Given the description of an element on the screen output the (x, y) to click on. 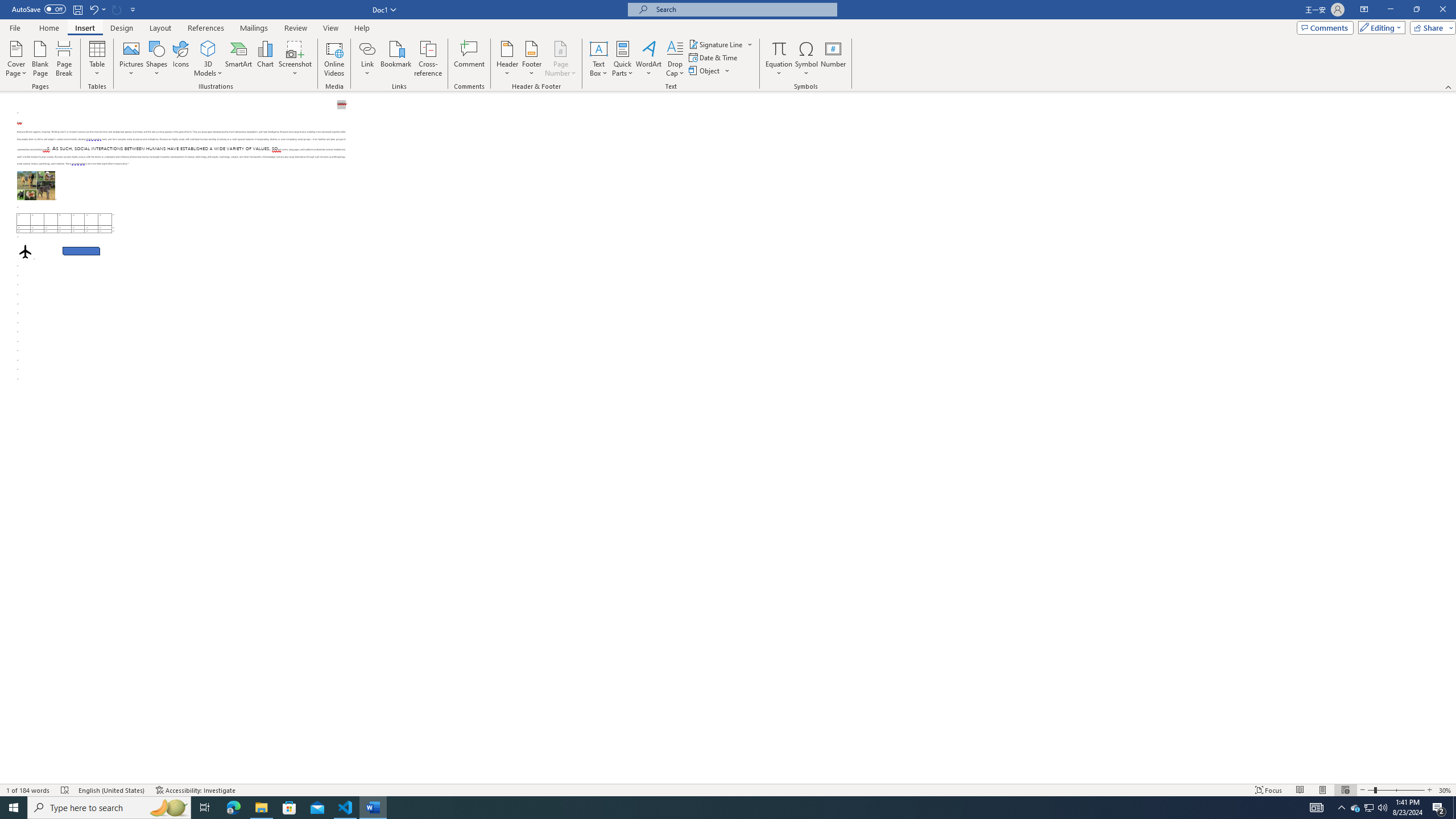
3D Models (208, 48)
Ribbon Display Options (1364, 9)
View (330, 28)
Quick Access Toolbar (74, 9)
Can't Repeat (117, 9)
Signature Line (716, 44)
AutoSave (38, 9)
Page Break (63, 58)
Text Box (598, 58)
Table (97, 58)
Blank Page (40, 58)
Cross-reference... (428, 58)
Language English (United States) (111, 790)
Focus  (1268, 790)
Header (507, 58)
